Given the description of an element on the screen output the (x, y) to click on. 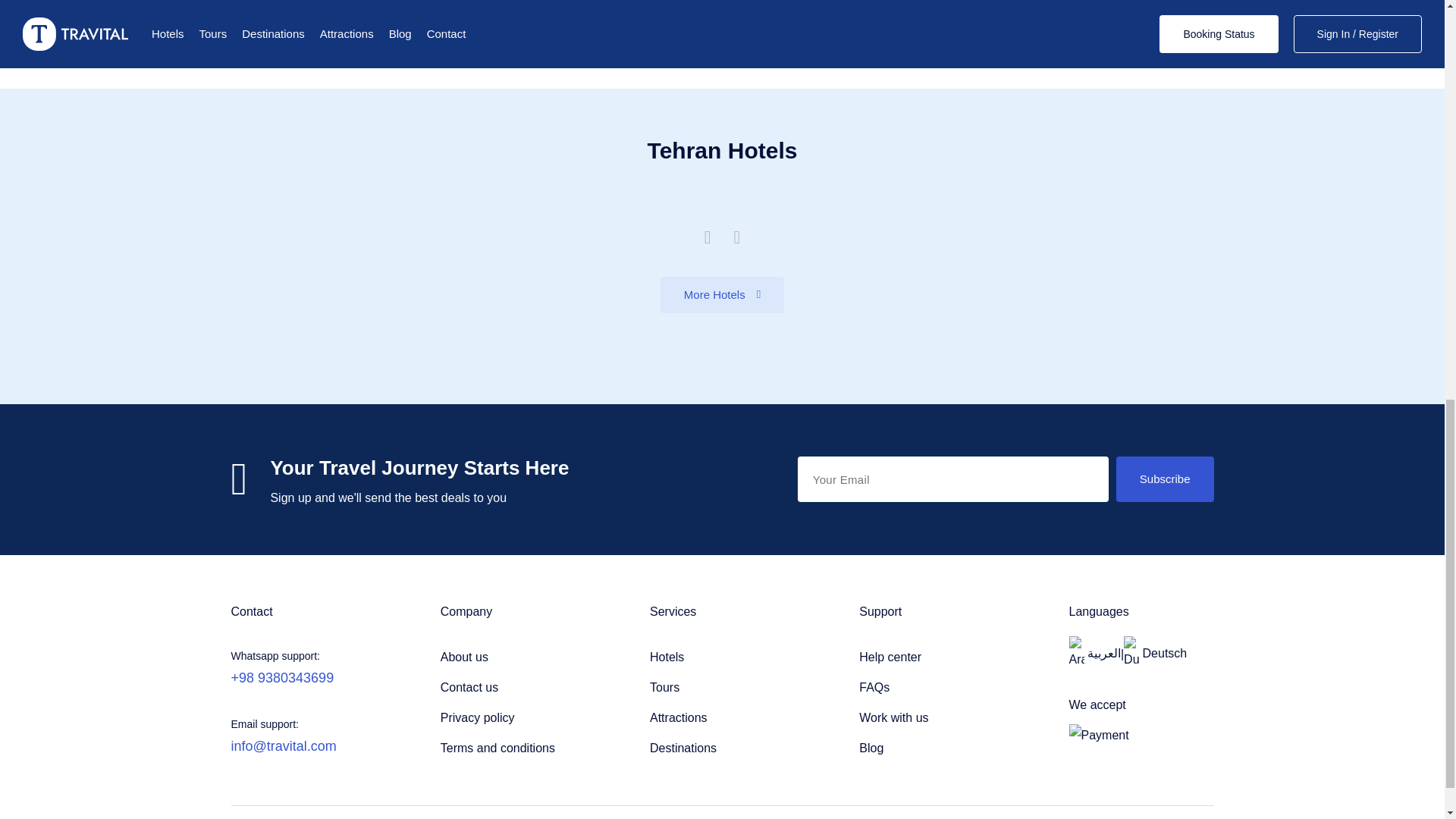
About us (513, 657)
More Hotels (722, 294)
Terms and conditions (513, 748)
Attractions (721, 717)
Subscribe (1165, 479)
Contact us (513, 687)
HOTELRESERVIERUNG IRAN (1155, 653)
Privacy policy (513, 717)
Hotels (721, 657)
Tours (721, 687)
